Given the description of an element on the screen output the (x, y) to click on. 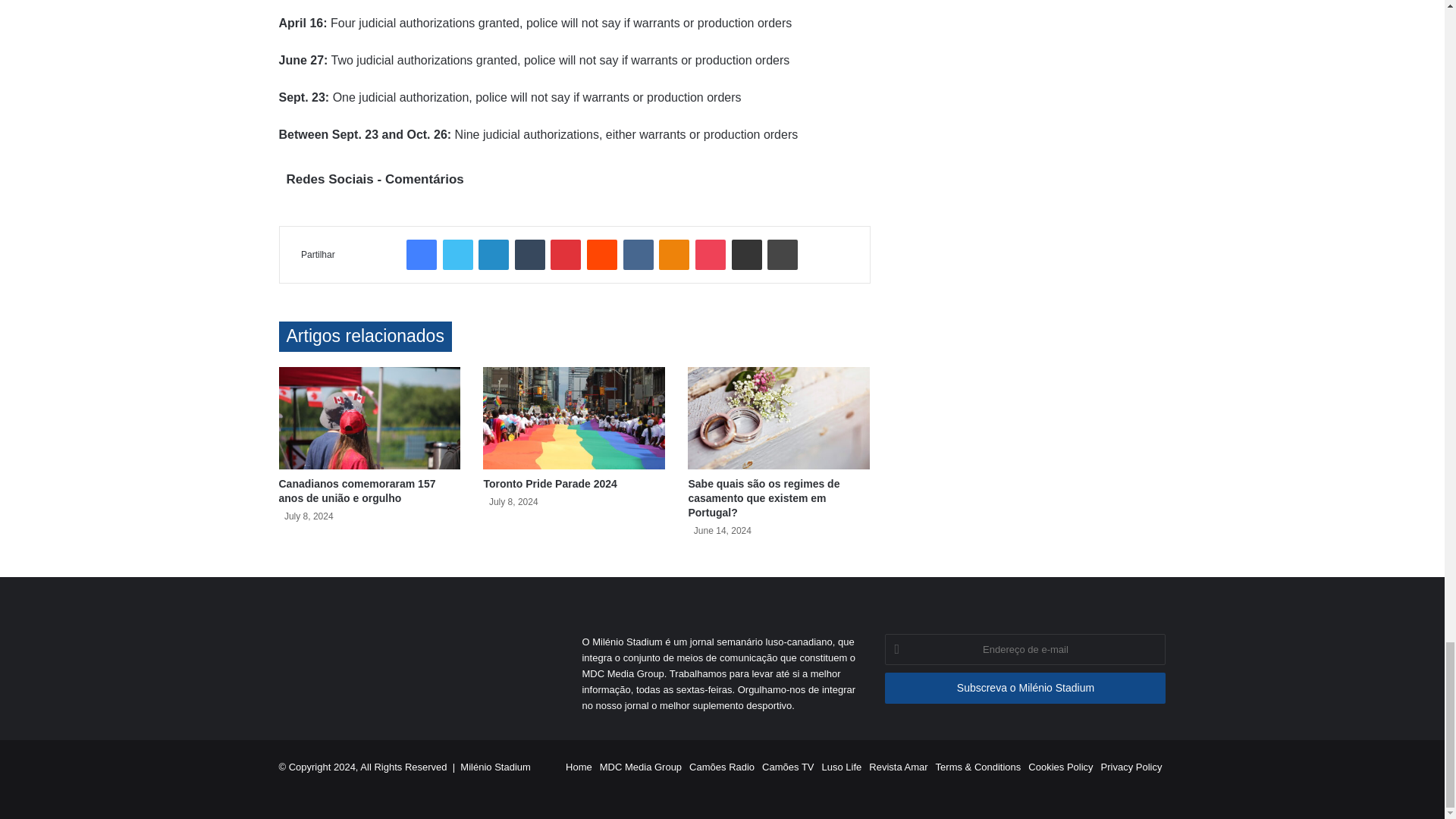
VKontakte (638, 254)
Tumblr (529, 254)
Partilha via e-mail (746, 254)
Reddit (601, 254)
Imprimir (782, 254)
Facebook (421, 254)
Pinterest (565, 254)
LinkedIn (493, 254)
Pocket (710, 254)
Twitter (457, 254)
